Given the description of an element on the screen output the (x, y) to click on. 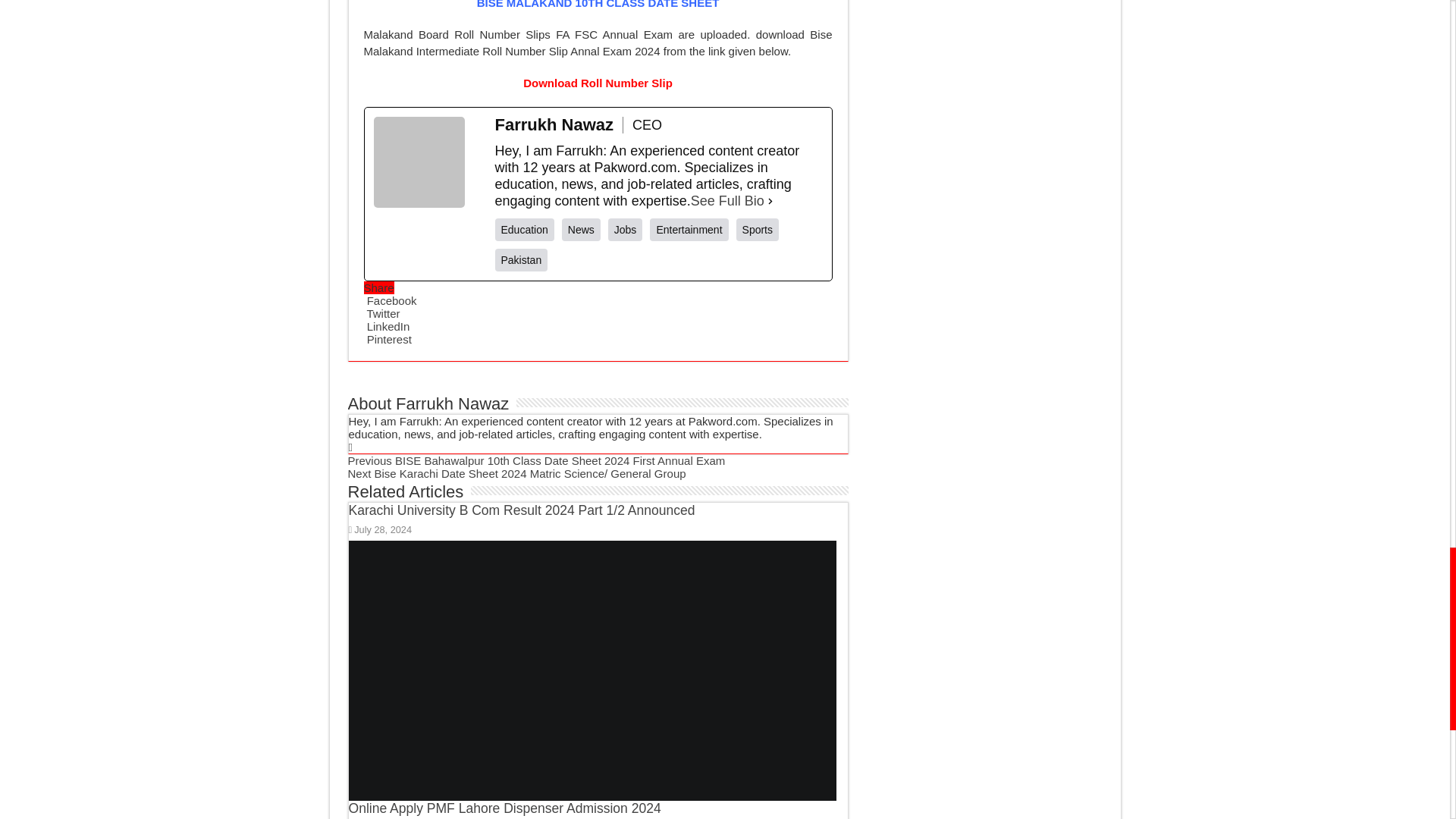
Download Roll Number Slip (597, 82)
BISE MALAKAND 10TH CLASS DATE SHEET (598, 4)
